Given the description of an element on the screen output the (x, y) to click on. 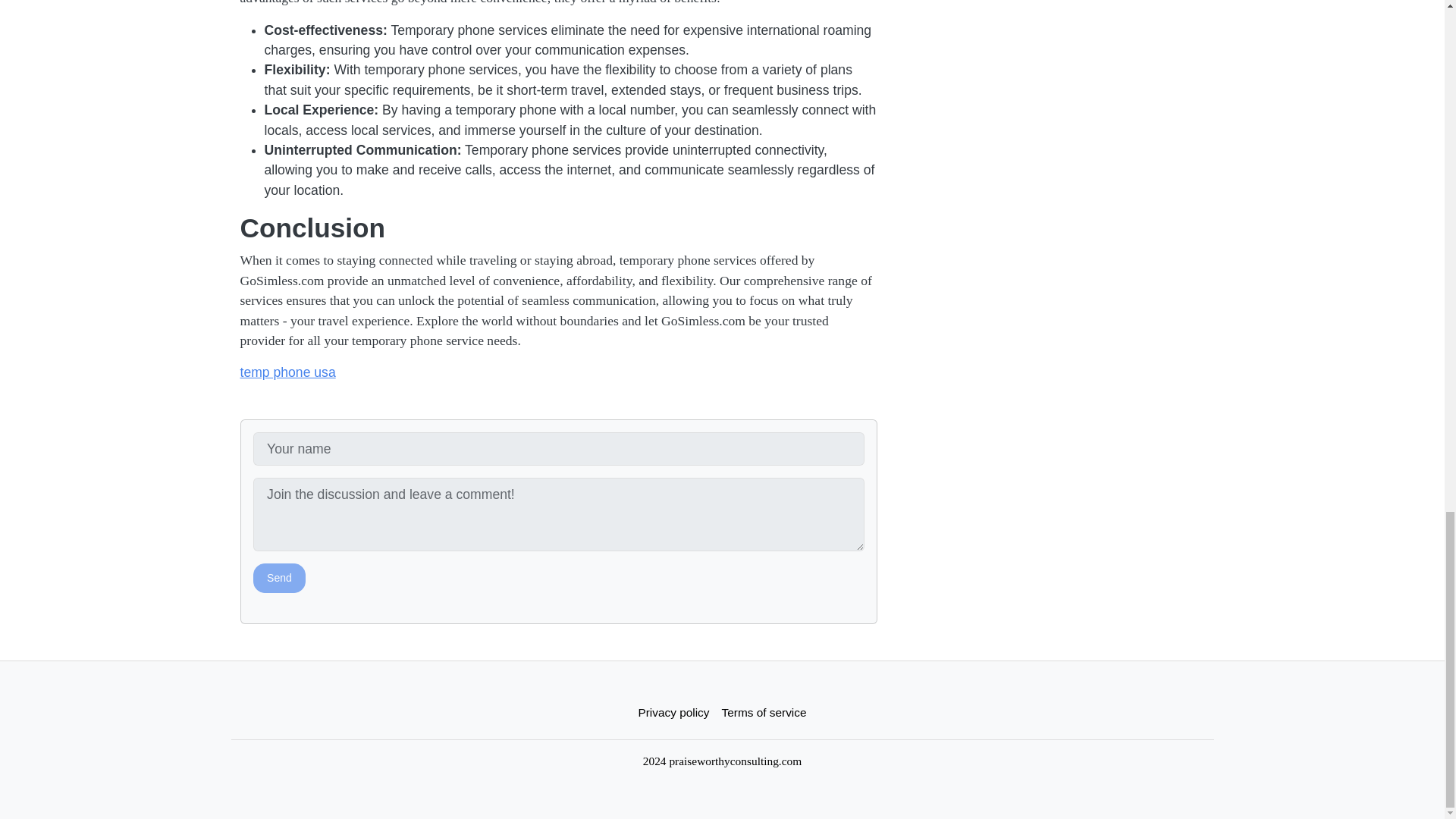
temp phone usa (287, 372)
Send (279, 577)
Send (279, 577)
Privacy policy (672, 712)
Terms of service (764, 712)
